Given the description of an element on the screen output the (x, y) to click on. 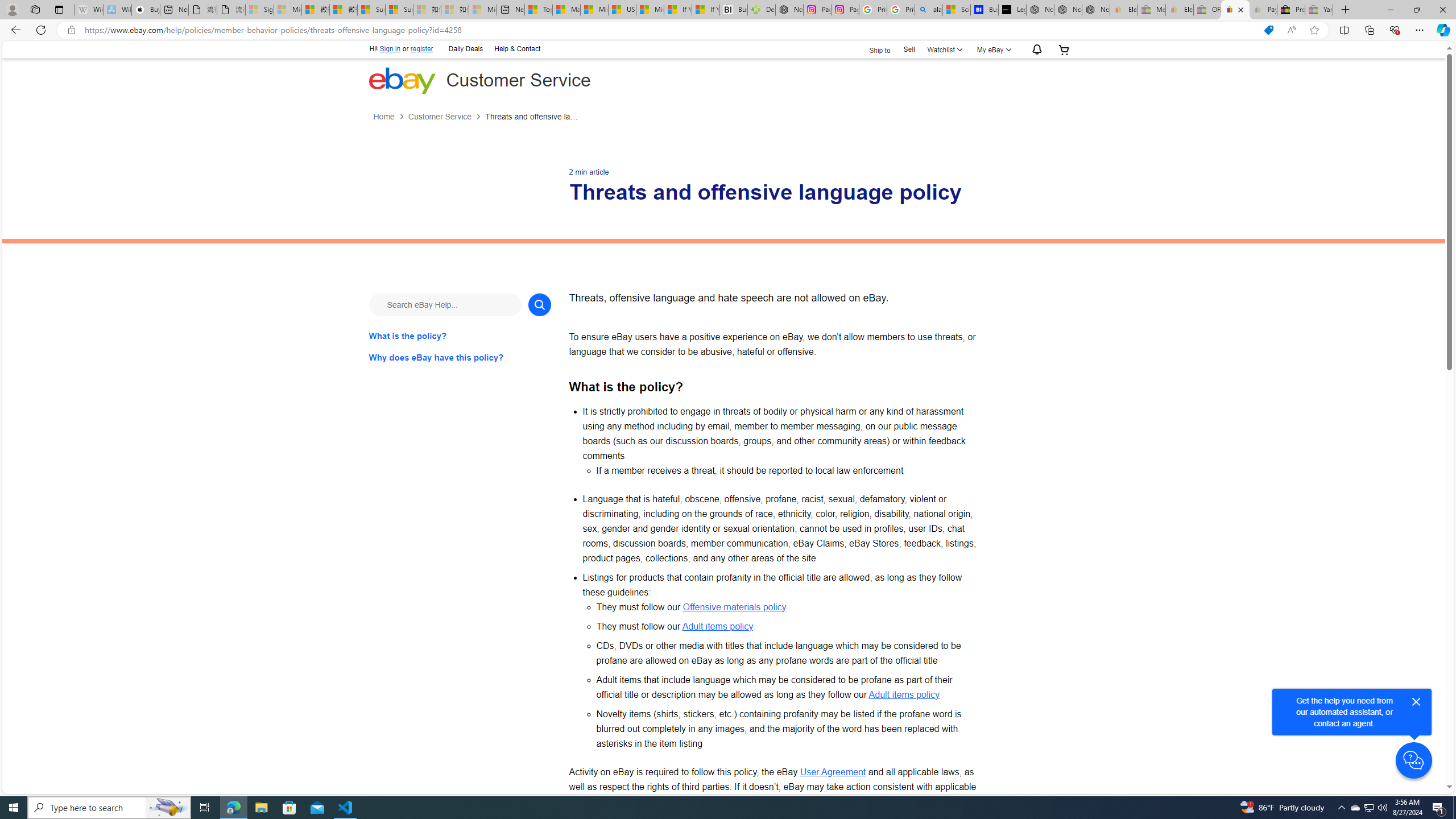
Sell (909, 49)
Help & Contact (516, 48)
Notifications (1034, 49)
Payments Terms of Use | eBay.com - Sleeping (1262, 9)
Customer Service (439, 117)
My eBay (992, 49)
Add this page to favorites (Ctrl+D) (1314, 29)
Top Stories - MSN (538, 9)
What is the policy? (459, 335)
Threats and offensive language policy | eBay (1235, 9)
WatchlistExpand Watch List (943, 49)
Minimize (1390, 9)
